Given the description of an element on the screen output the (x, y) to click on. 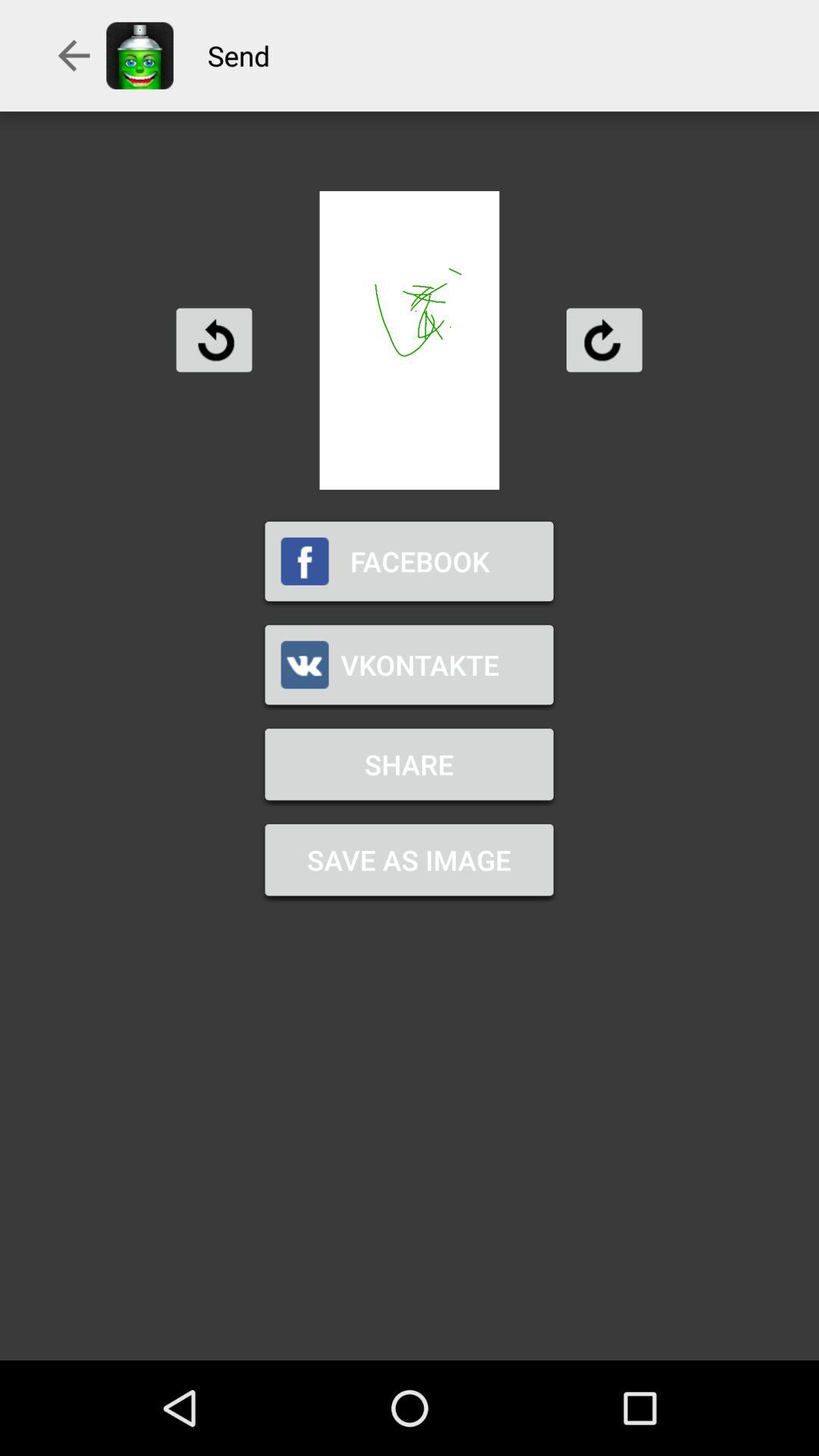
undo previous action (213, 339)
